Given the description of an element on the screen output the (x, y) to click on. 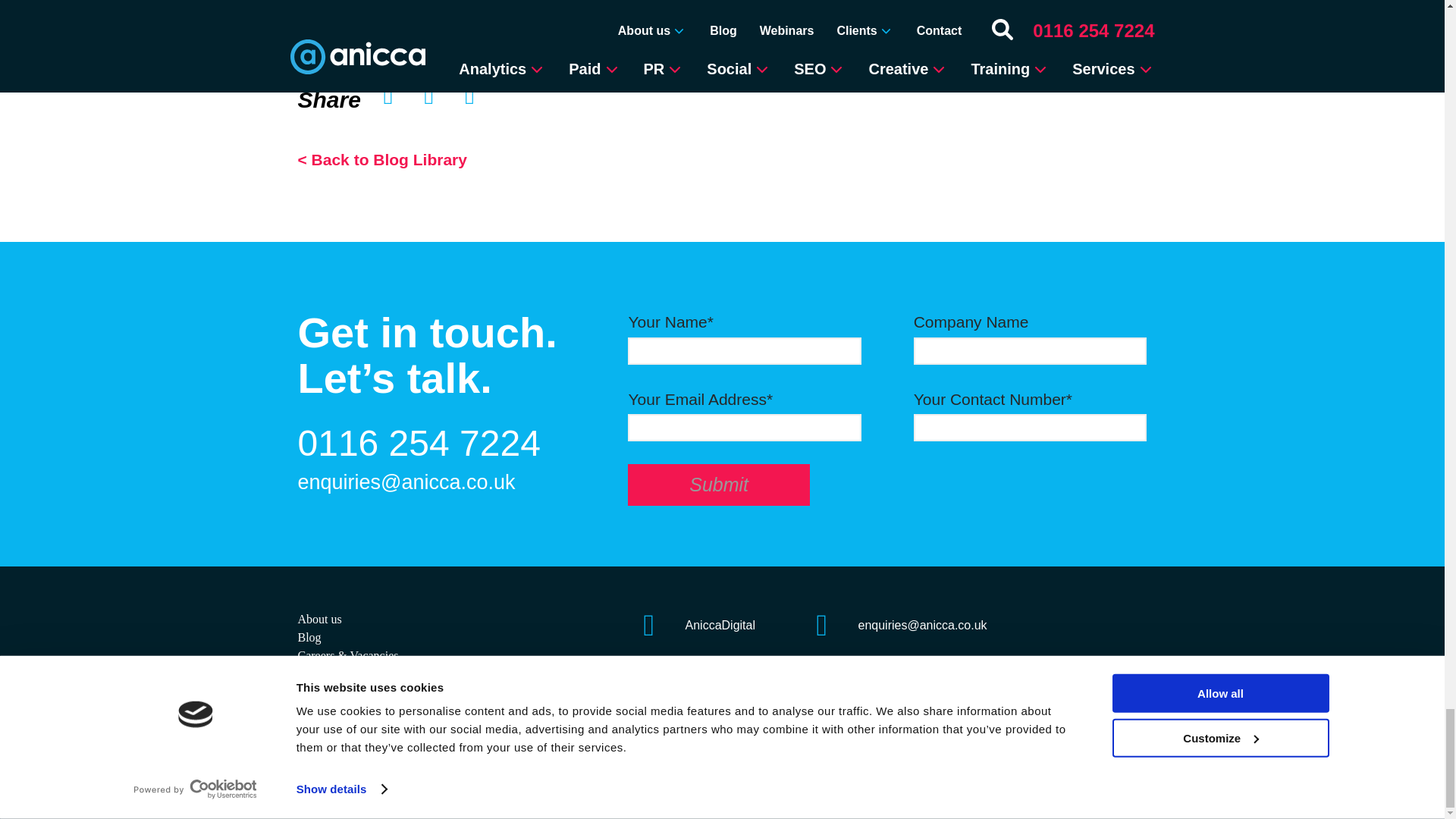
Submit (718, 485)
